Given the description of an element on the screen output the (x, y) to click on. 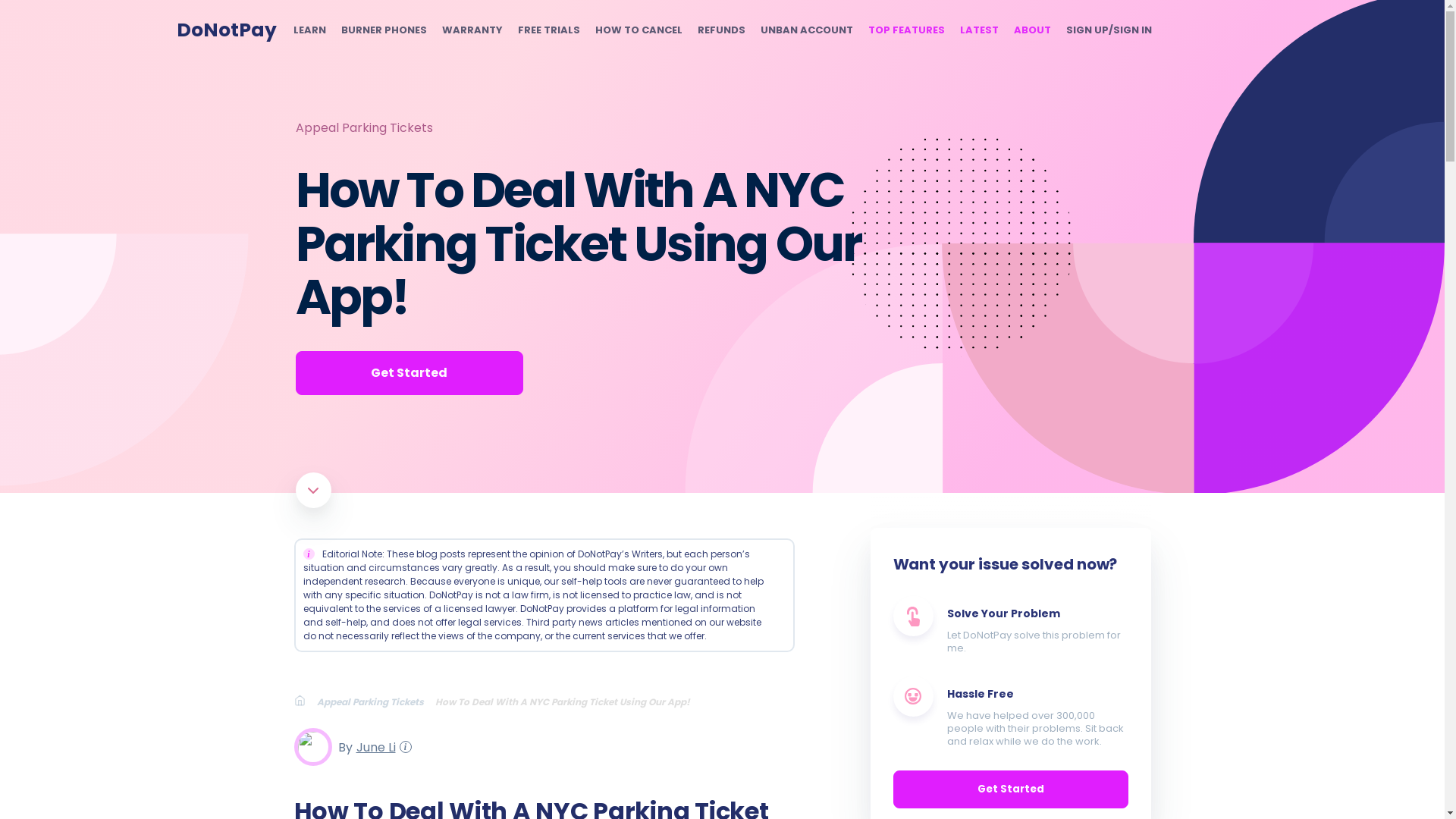
Get Started (408, 372)
FREE TRIALS (547, 29)
ABOUT (1031, 29)
BURNER PHONES (383, 29)
REFUNDS (721, 29)
June Li (373, 746)
TOP FEATURES (905, 29)
Get Started (1010, 789)
Appeal Parking Tickets (363, 127)
Appeal Parking Tickets (376, 700)
LEARN (308, 29)
WARRANTY (471, 29)
DoNotPay (226, 29)
UNBAN ACCOUNT (805, 29)
HOW TO CANCEL (637, 29)
